Given the description of an element on the screen output the (x, y) to click on. 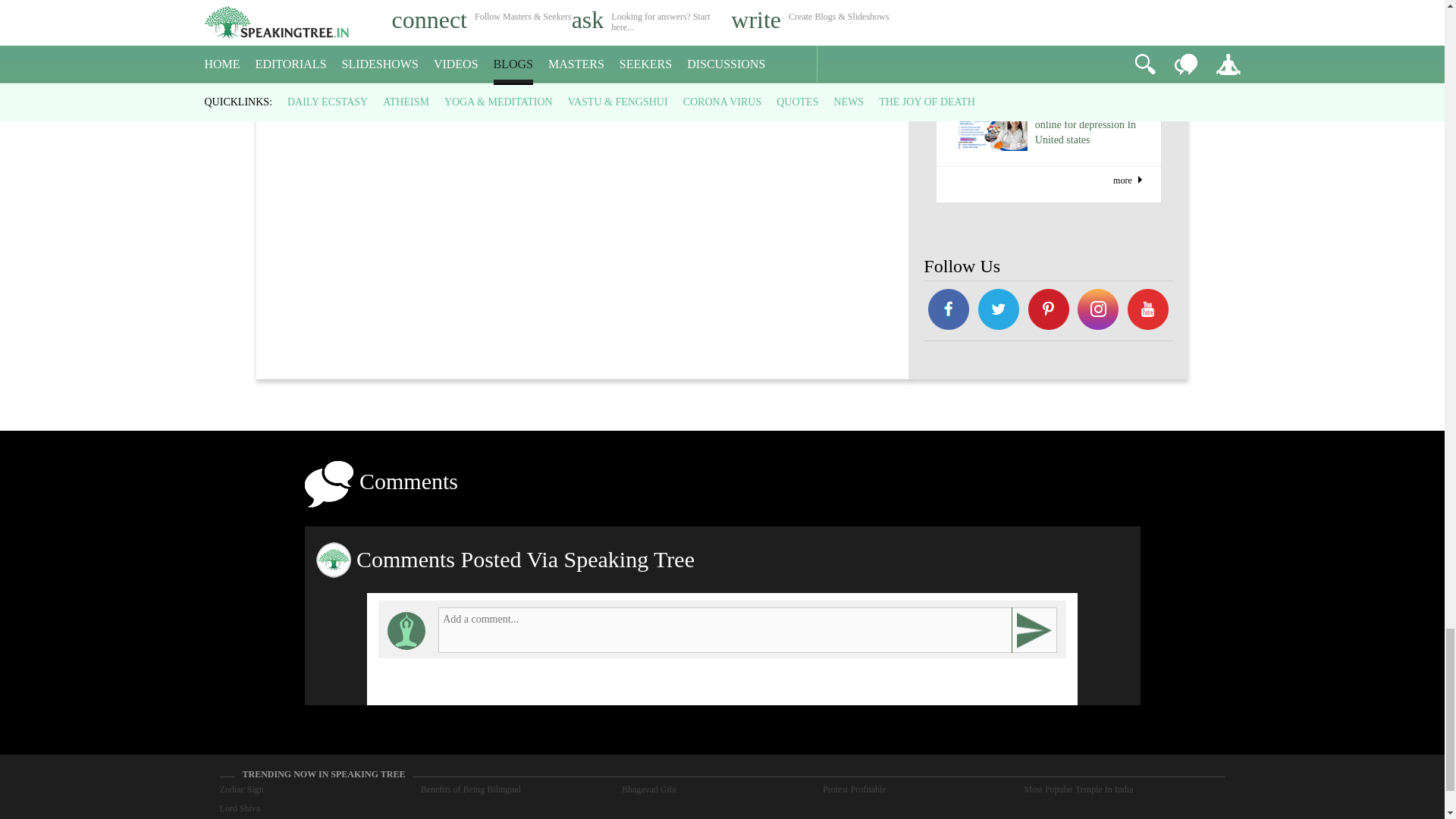
Speaking Tree FaceBook (1048, 311)
Speaking Tree FaceBook (1099, 311)
Speaking Tree FaceBook (1147, 311)
Speaking Tree FaceBook (998, 311)
Speaking Tree FaceBook (948, 311)
